Given the description of an element on the screen output the (x, y) to click on. 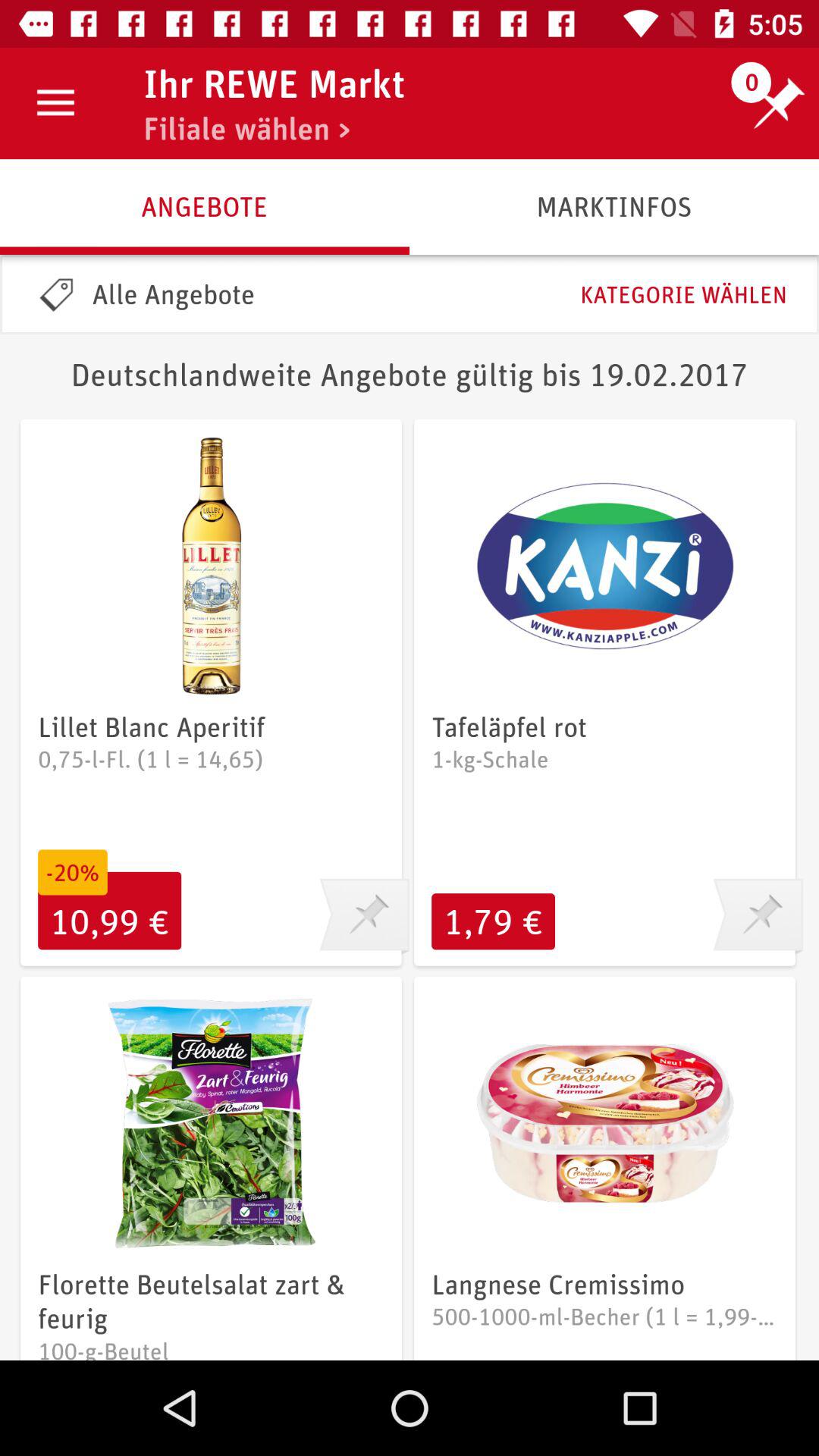
turn off icon next to the 0 item (273, 83)
